Given the description of an element on the screen output the (x, y) to click on. 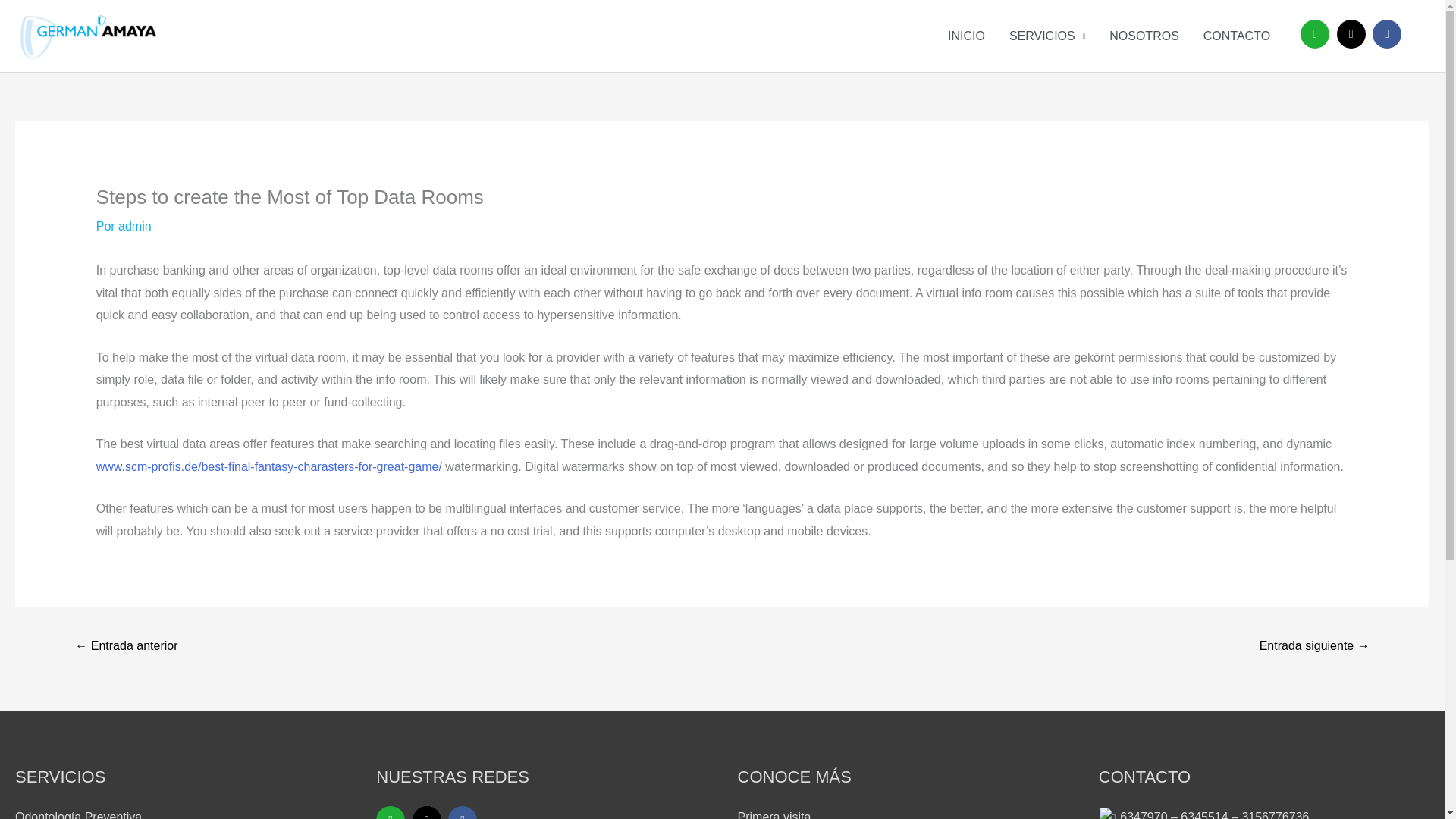
Instagram (1350, 33)
Organization Virtual Data Room (1314, 646)
Ver todas las entradas de admin (134, 226)
whatsapp (1314, 33)
WhatsApp (1314, 33)
whatsapp (389, 812)
facebook (462, 812)
Primera visita (773, 814)
admin (134, 226)
NOSOTROS (1144, 36)
